Given the description of an element on the screen output the (x, y) to click on. 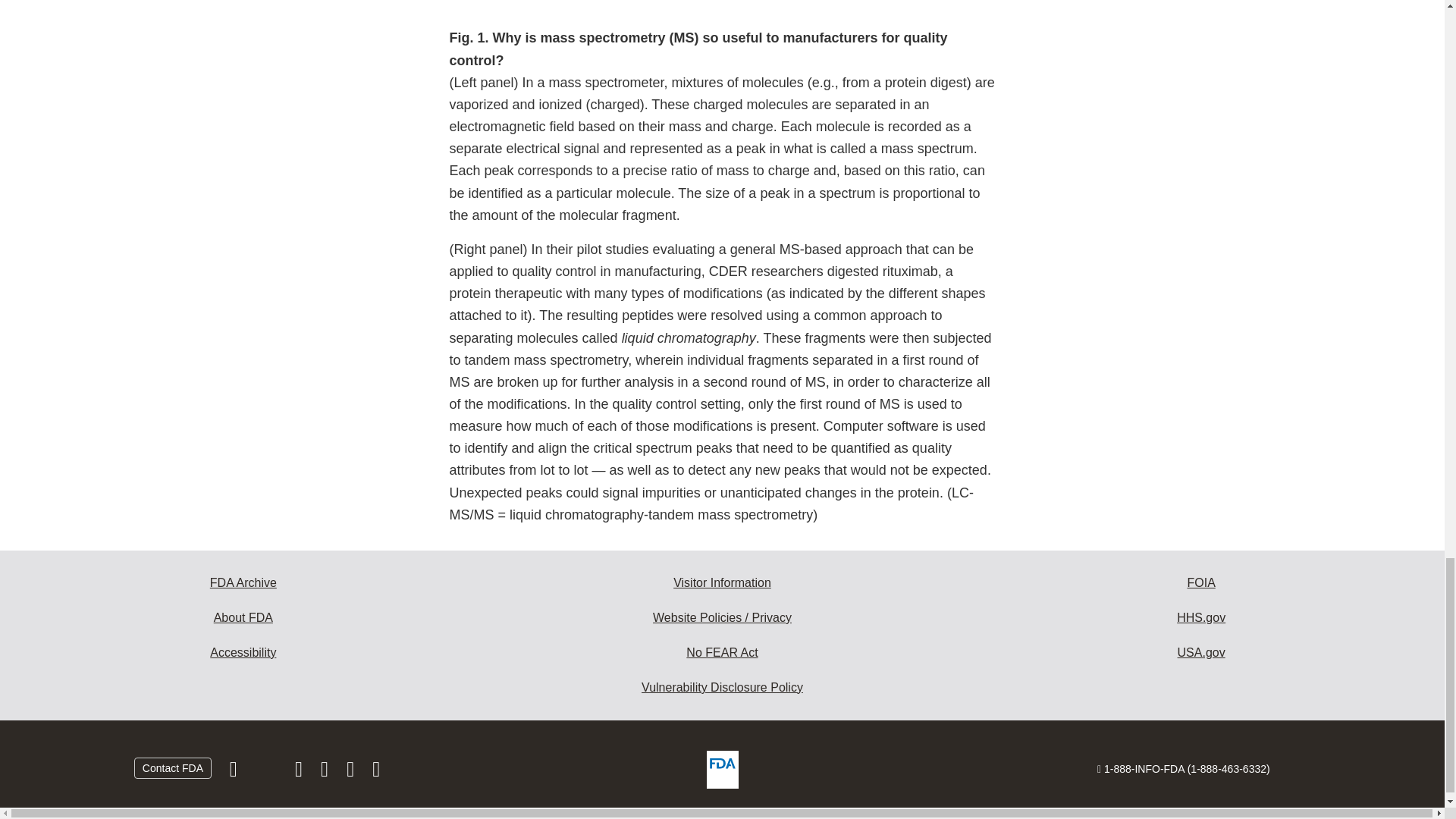
Follow FDA on LinkedIn (326, 772)
Freedom of Information Act (1200, 582)
Subscribe to FDA RSS feeds (376, 772)
View FDA videos on YouTube (352, 772)
Follow FDA on Instagram (299, 772)
Follow FDA on Facebook (234, 772)
Health and Human Services (1200, 617)
Follow FDA on X (266, 772)
